Given the description of an element on the screen output the (x, y) to click on. 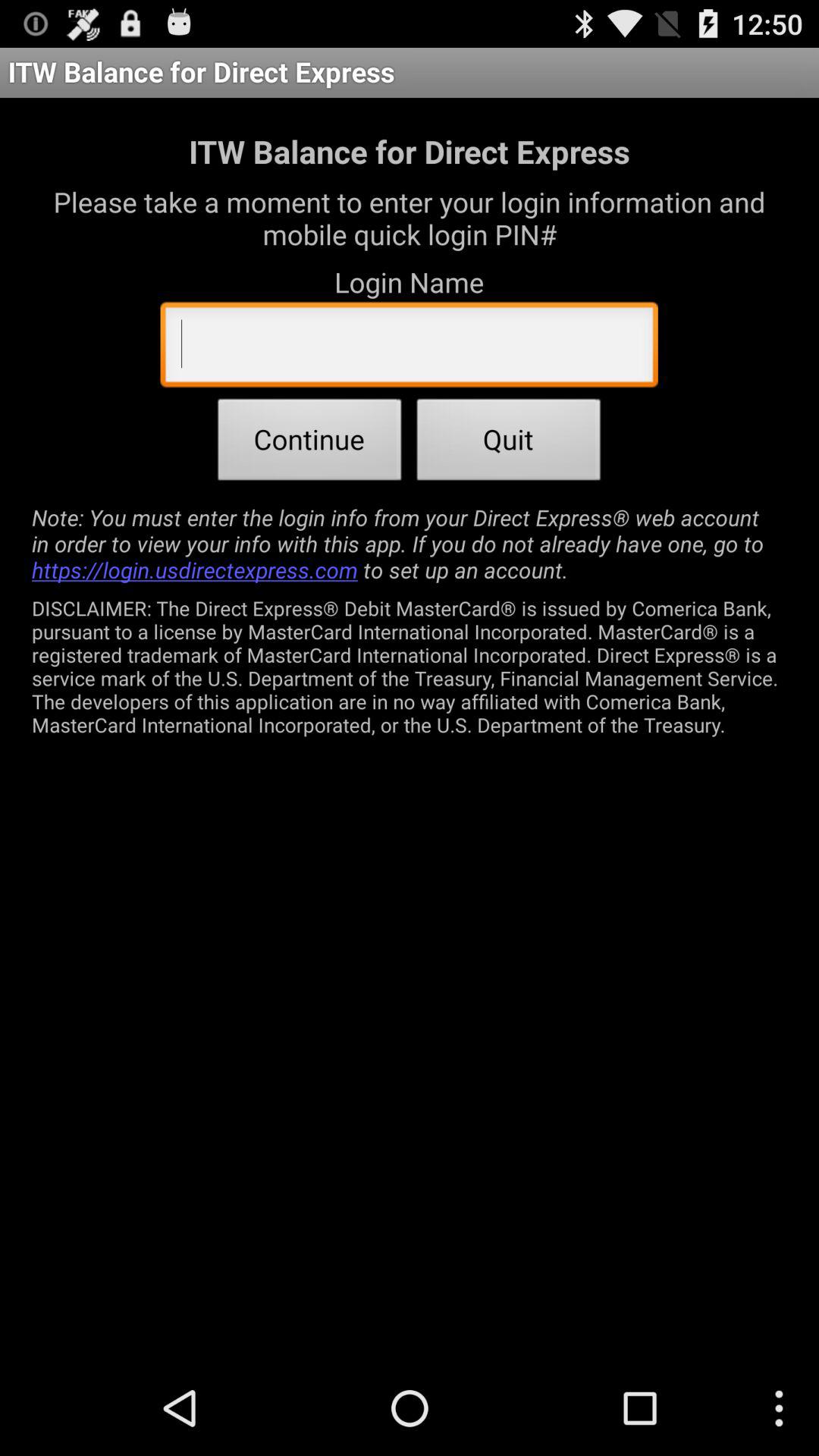
tap the icon above disclaimer the direct (409, 543)
